Given the description of an element on the screen output the (x, y) to click on. 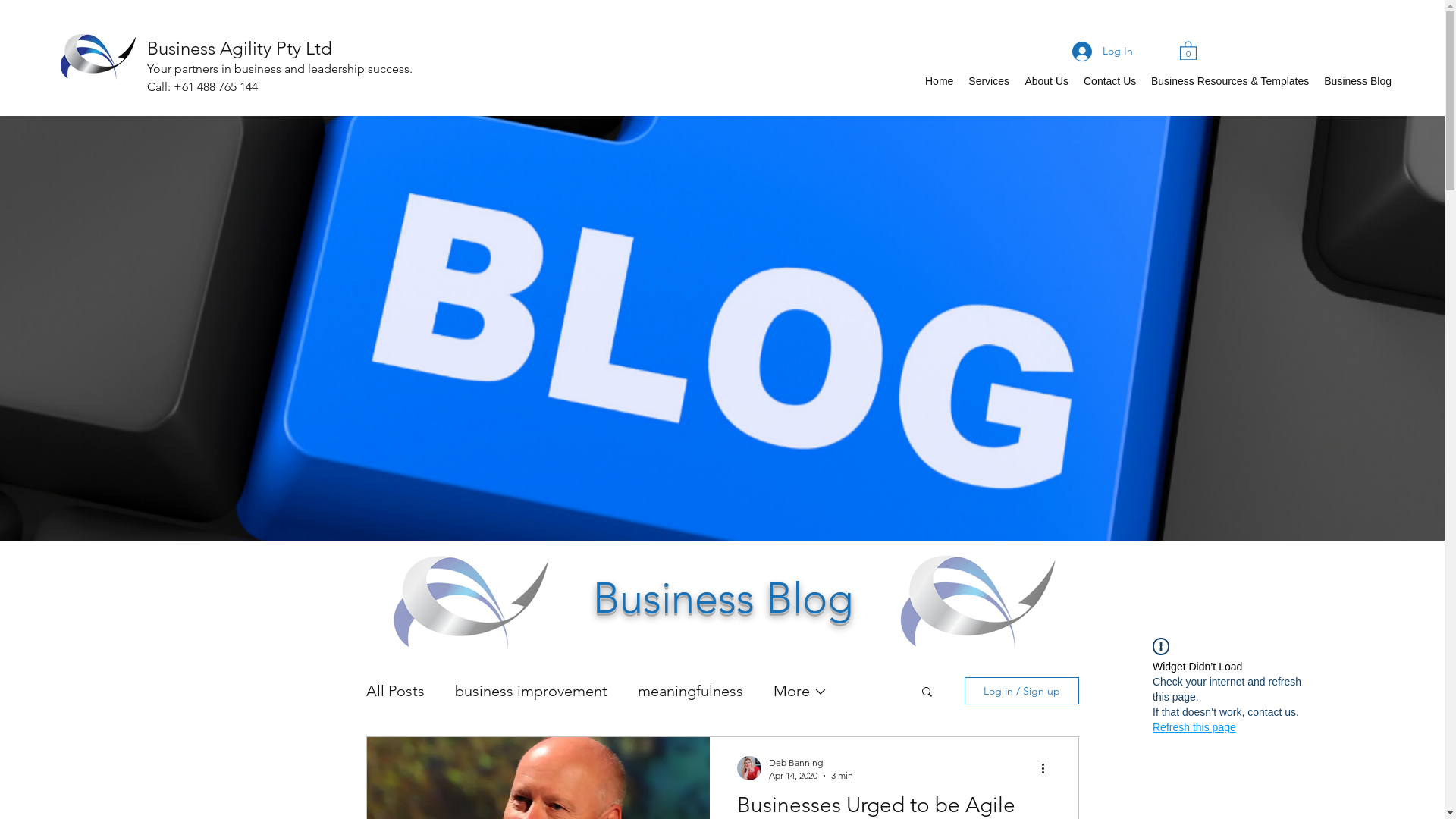
Home Element type: text (938, 80)
Log In Element type: text (1092, 51)
All Posts Element type: text (394, 690)
Business Resources & Templates Element type: text (1229, 80)
Log in / Sign up Element type: text (1021, 690)
business improvement Element type: text (531, 690)
0 Element type: text (1187, 49)
Contact Us Element type: text (1109, 80)
About Us Element type: text (1046, 80)
Services Element type: text (988, 80)
Business Blog Element type: text (1357, 80)
Refresh this page Element type: text (1194, 726)
meaningfulness Element type: text (689, 690)
Deb Banning Element type: text (810, 762)
